Given the description of an element on the screen output the (x, y) to click on. 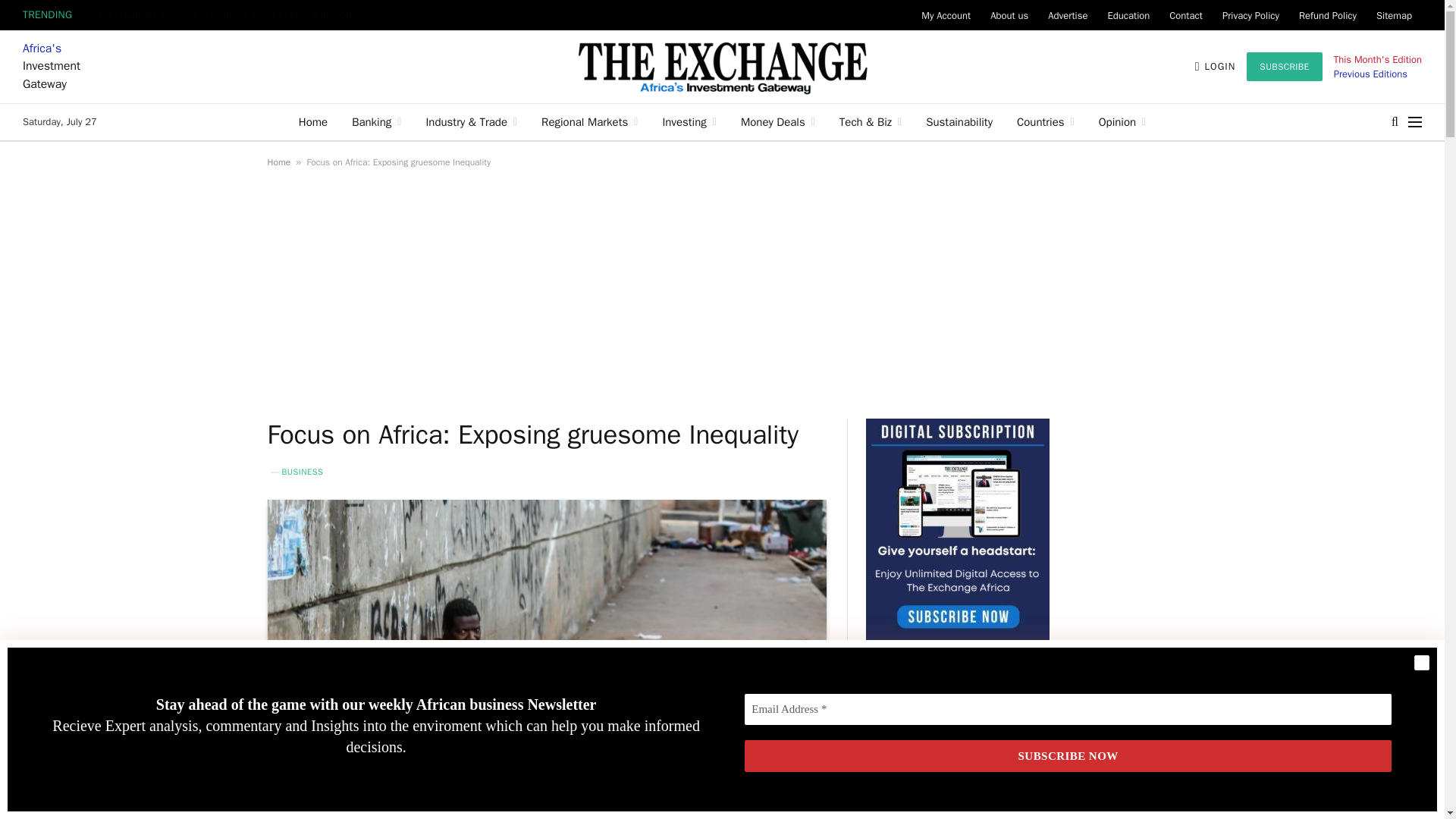
This Months Editions (1370, 73)
LOGIN (1215, 66)
SUBSCRIBE NOW (1067, 756)
Education (1127, 15)
This Months Edition (1377, 59)
Sitemap (1394, 15)
SUBSCRIBE (1284, 66)
Refund Policy (1327, 15)
Advertise (1067, 15)
This Month's Edition (1377, 59)
Contact (1185, 15)
Privacy Policy (1250, 15)
About us (1008, 15)
The Exchange (721, 66)
Can Dangote Refinery Transform Africa Energy Ambition (228, 15)
